Given the description of an element on the screen output the (x, y) to click on. 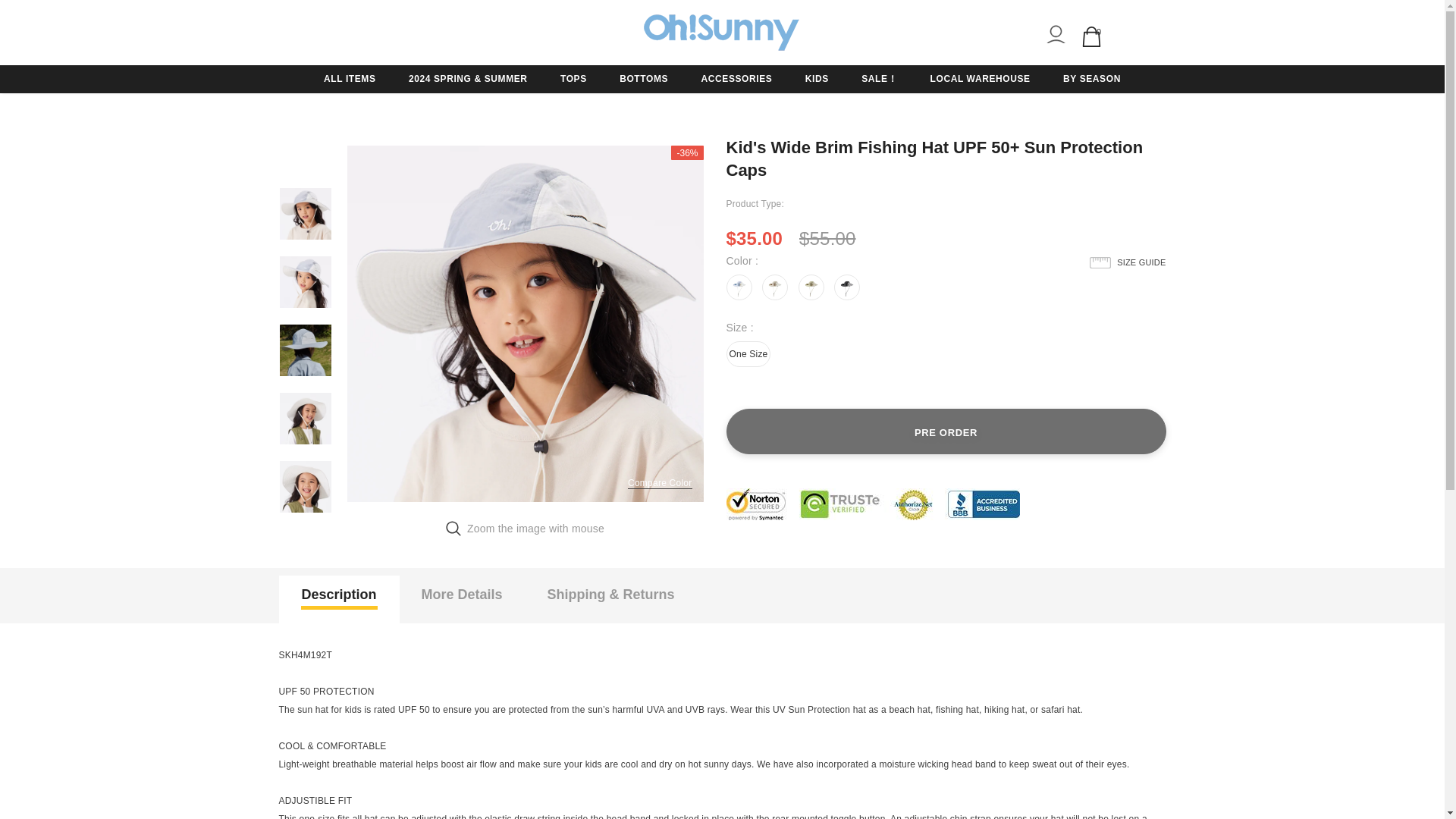
BY SEASON (1091, 79)
0 (1091, 35)
ACCESSORIES (735, 79)
Cart (1091, 35)
Logo (721, 32)
LOCAL WAREHOUSE (980, 79)
Compare Color (659, 482)
TOPS (573, 79)
BOTTOMS (644, 79)
ALL ITEMS (349, 79)
